Given the description of an element on the screen output the (x, y) to click on. 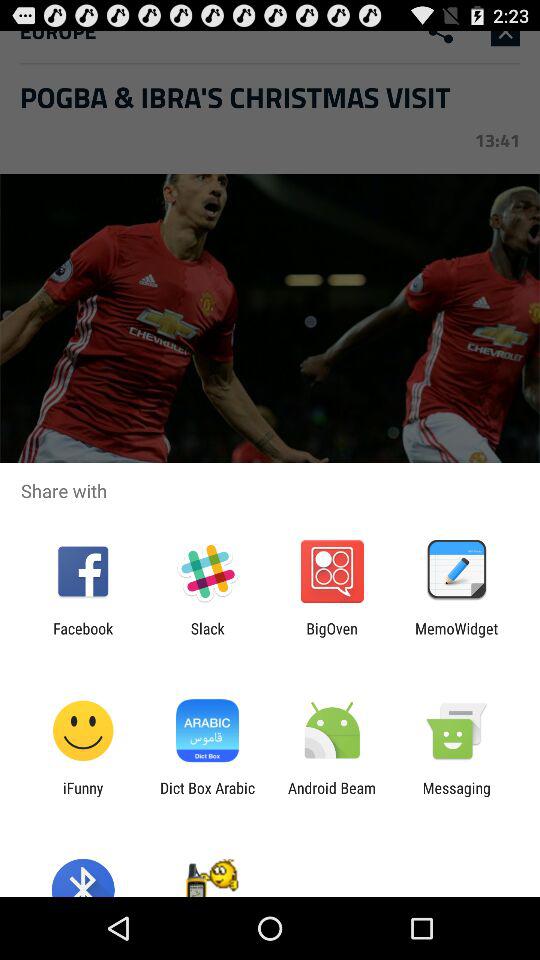
turn off the icon to the left of bigoven icon (207, 637)
